Given the description of an element on the screen output the (x, y) to click on. 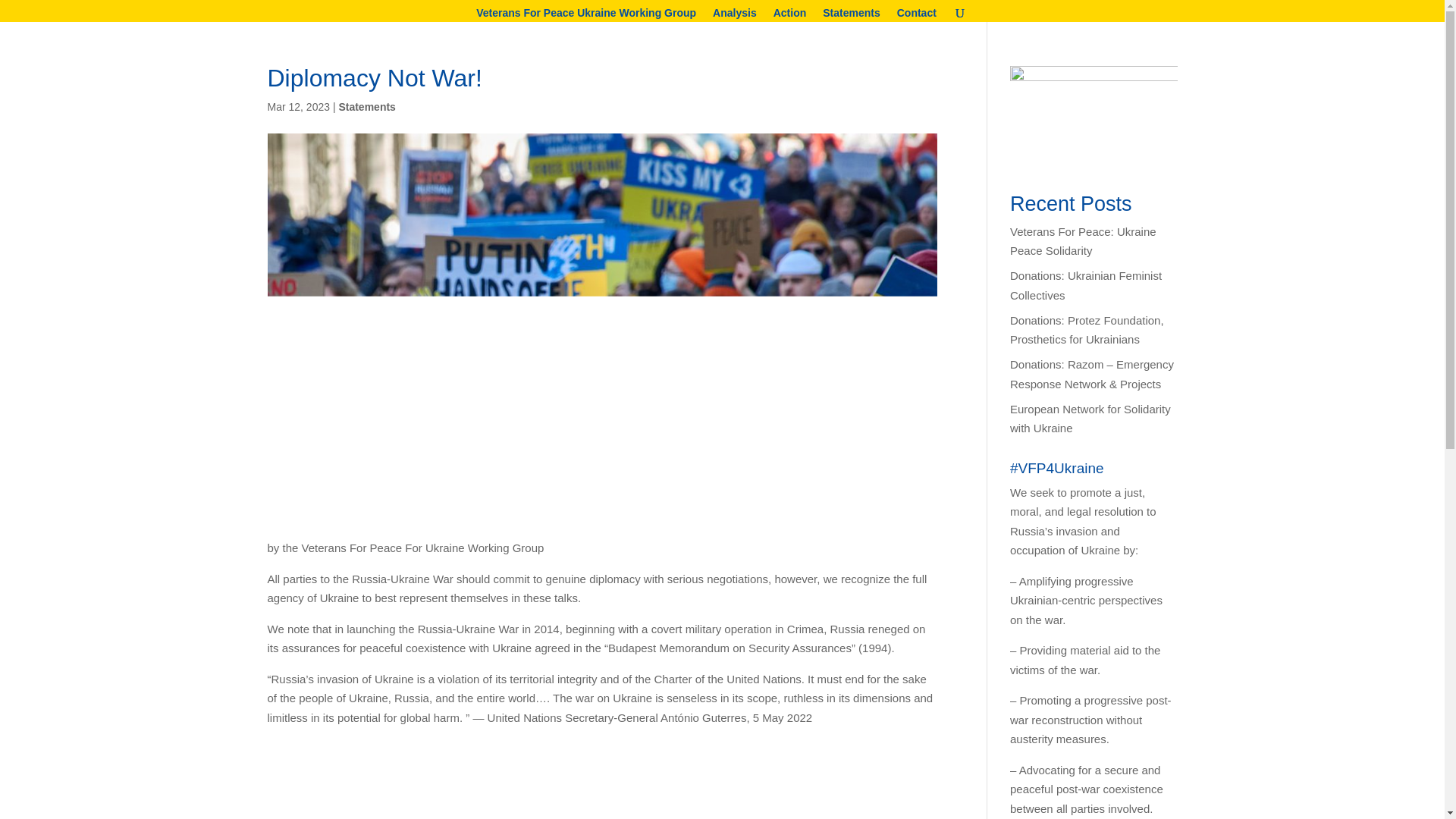
Statements (850, 14)
European Network for Solidarity with Ukraine (1090, 418)
Action (789, 14)
Donations: Ukrainian Feminist Collectives (1085, 285)
Analysis (735, 14)
Donations: Protez Foundation, Prosthetics for Ukrainians (1086, 329)
Statements (365, 106)
Contact (916, 14)
Veterans For Peace Ukraine Working Group (585, 14)
Veterans For Peace: Ukraine Peace Solidarity (1083, 241)
